Given the description of an element on the screen output the (x, y) to click on. 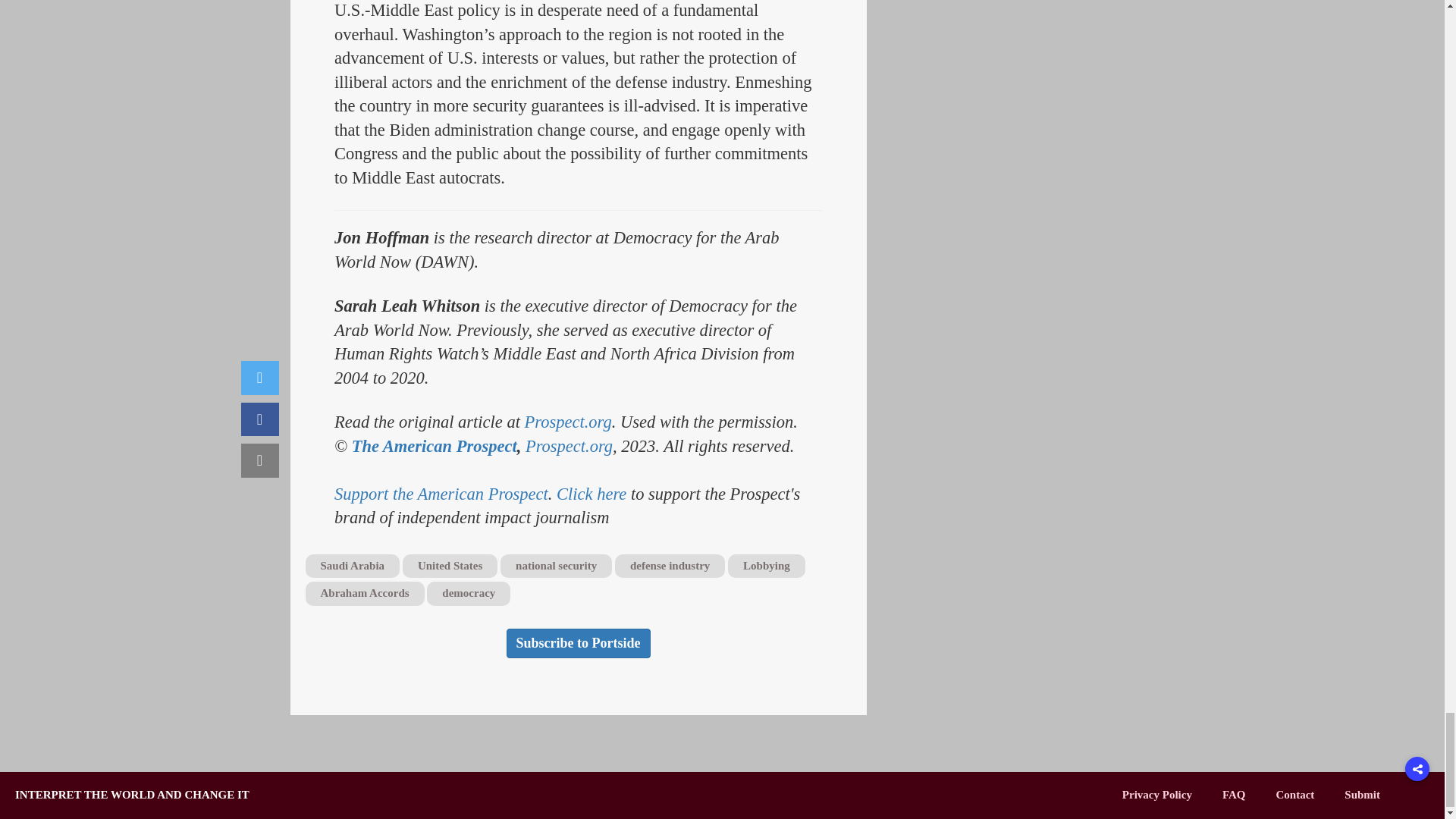
Submit an article to Portside (1361, 794)
Frequently Asked Questions (1234, 794)
